Given the description of an element on the screen output the (x, y) to click on. 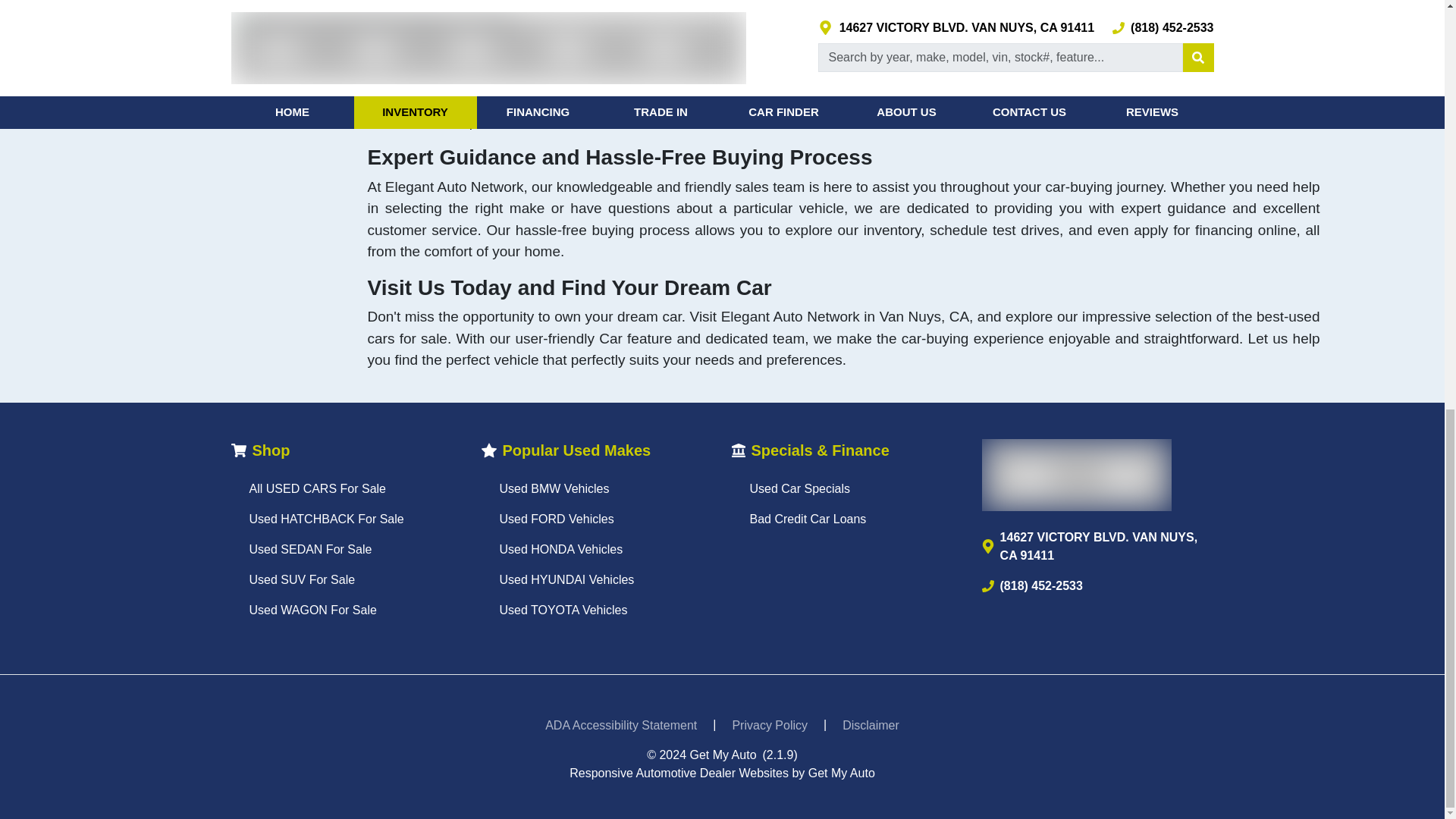
Used FORD Vehicles (555, 518)
All USED CARS For Sale (316, 488)
Used SUV For Sale (301, 579)
Used WAGON For Sale (311, 609)
Used HYUNDAI Vehicles (566, 579)
Used Car Specials (799, 488)
Used TOYOTA Vehicles (563, 609)
Used HATCHBACK For Sale (325, 518)
14627 VICTORY BLVD. VAN NUYS, CA 91411 (1096, 546)
Privacy Policy (769, 725)
ADA Accessibility Statement (620, 725)
Used SEDAN For Sale (309, 549)
Bad Credit Car Loans (807, 518)
Used BMW Vehicles (553, 488)
Used HONDA Vehicles (561, 549)
